Given the description of an element on the screen output the (x, y) to click on. 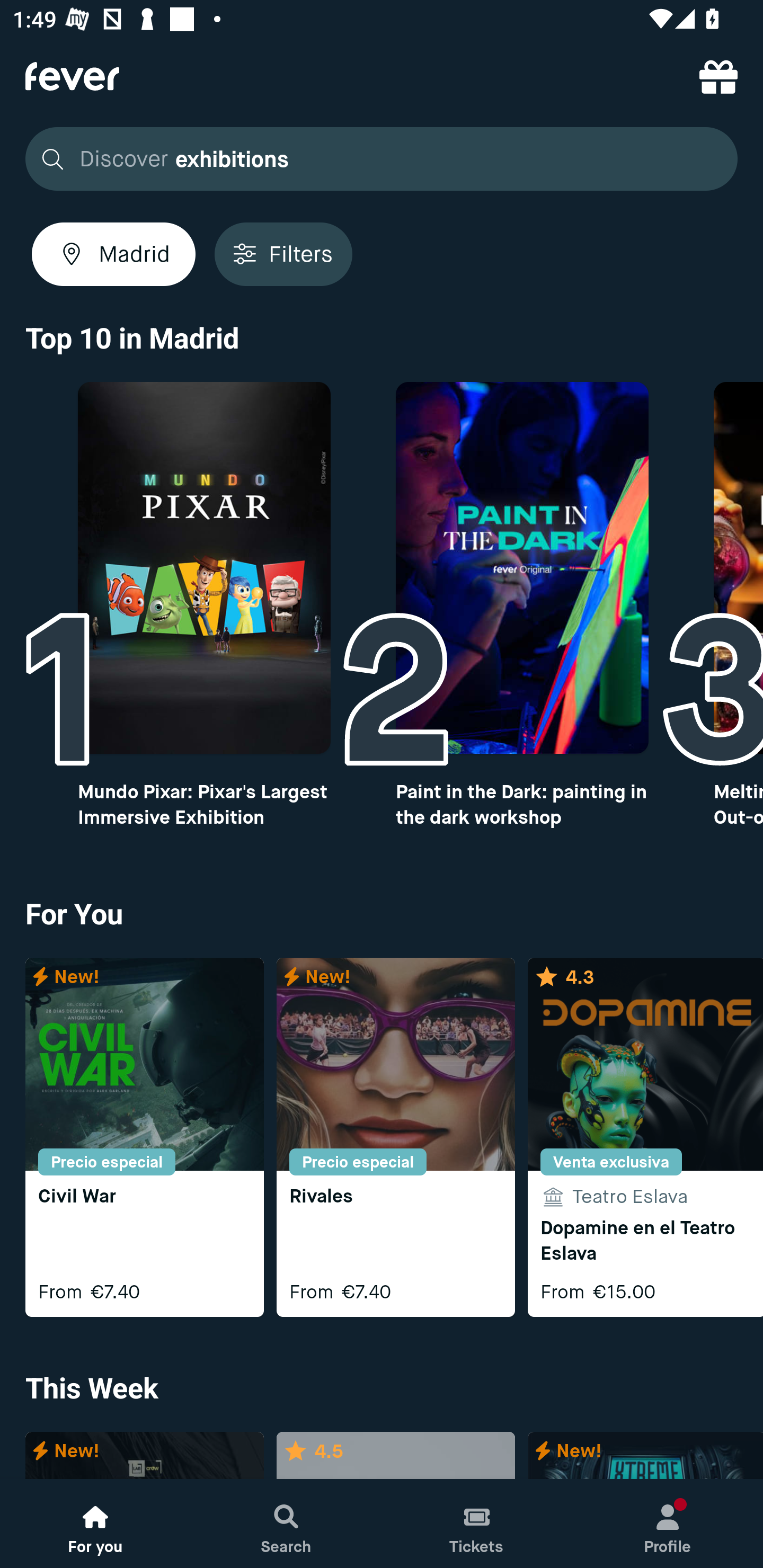
referral (718, 75)
Discover exhibitions (381, 158)
Discover exhibitions (376, 158)
Madrid (113, 253)
Filters (283, 253)
Top10 image (203, 568)
Top10 image (521, 568)
Search (285, 1523)
Tickets (476, 1523)
Profile, New notification Profile (667, 1523)
